Given the description of an element on the screen output the (x, y) to click on. 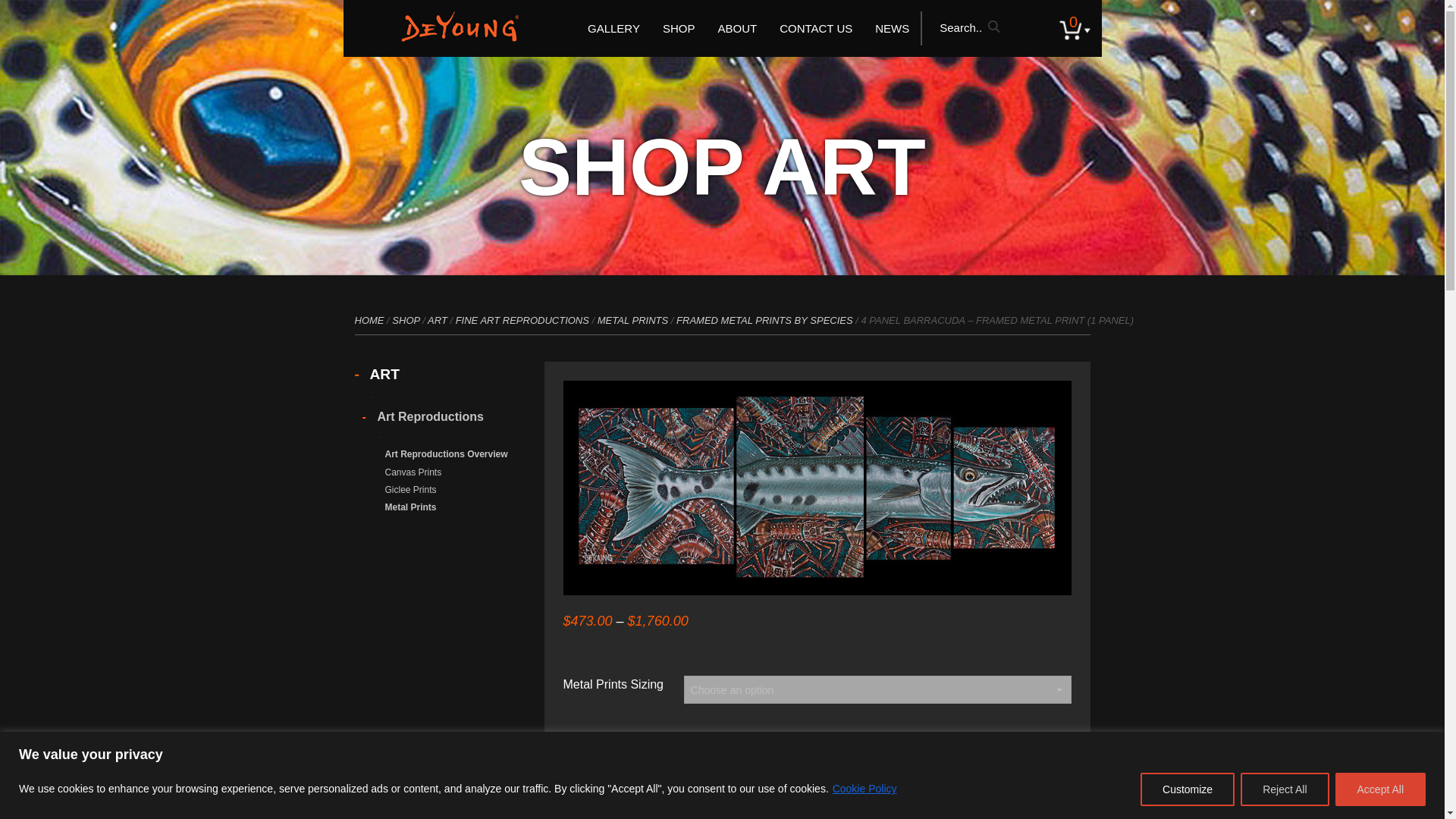
Barracuda (526, 240)
Redfish (526, 259)
SPECIES GALLERIES (526, 66)
Tarpon (526, 107)
Warm Water (526, 221)
Cutthroat (526, 183)
Search (999, 28)
Steelhead (526, 202)
Atlantic Salmon and Sea Trout (526, 297)
Brown Trout (526, 88)
YES (670, 737)
Cookie Policy (864, 788)
Reflections Series (712, 145)
Rainbow Trout (526, 164)
Permit (526, 278)
